Given the description of an element on the screen output the (x, y) to click on. 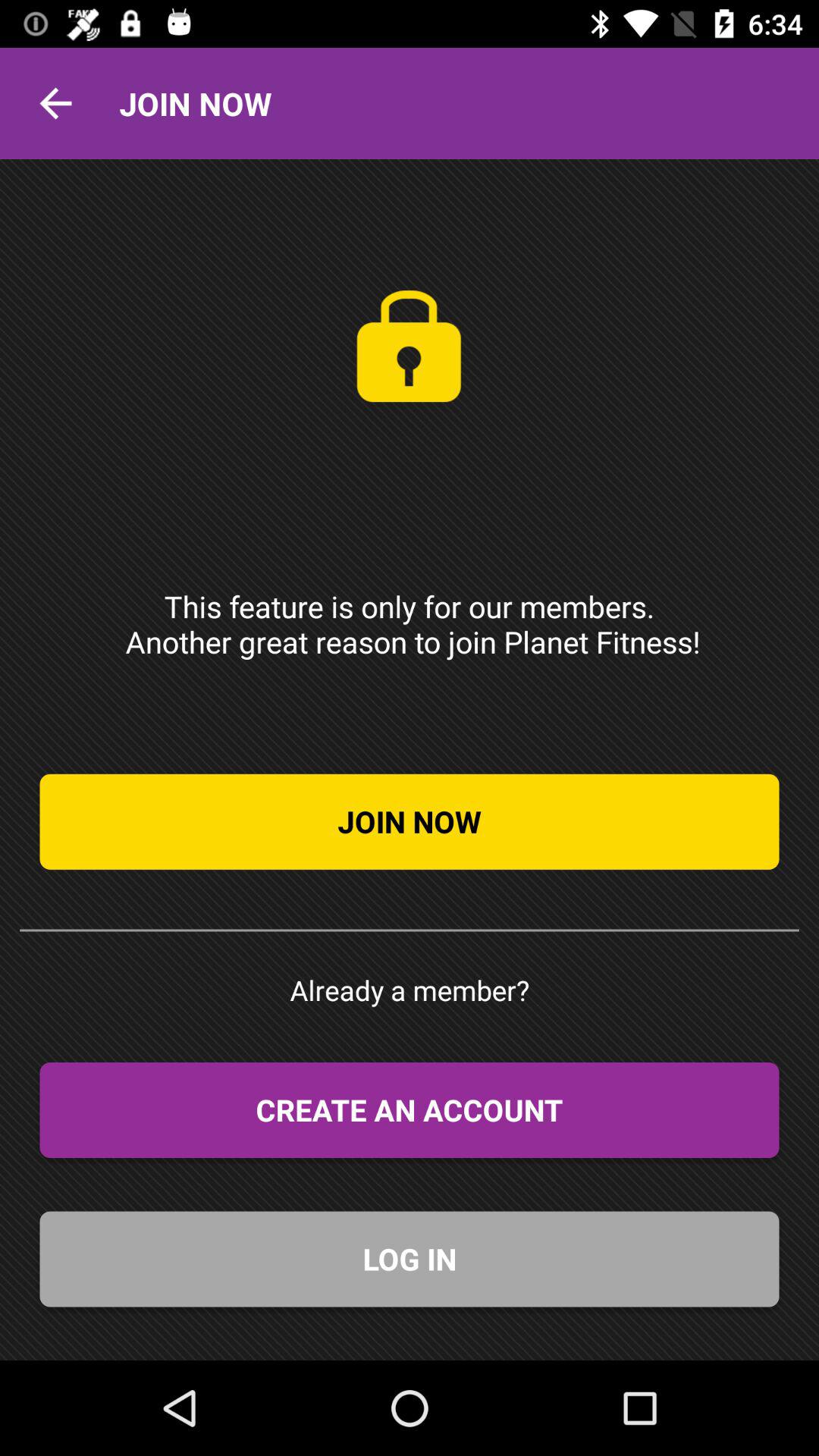
choose the icon next to join now item (55, 103)
